Given the description of an element on the screen output the (x, y) to click on. 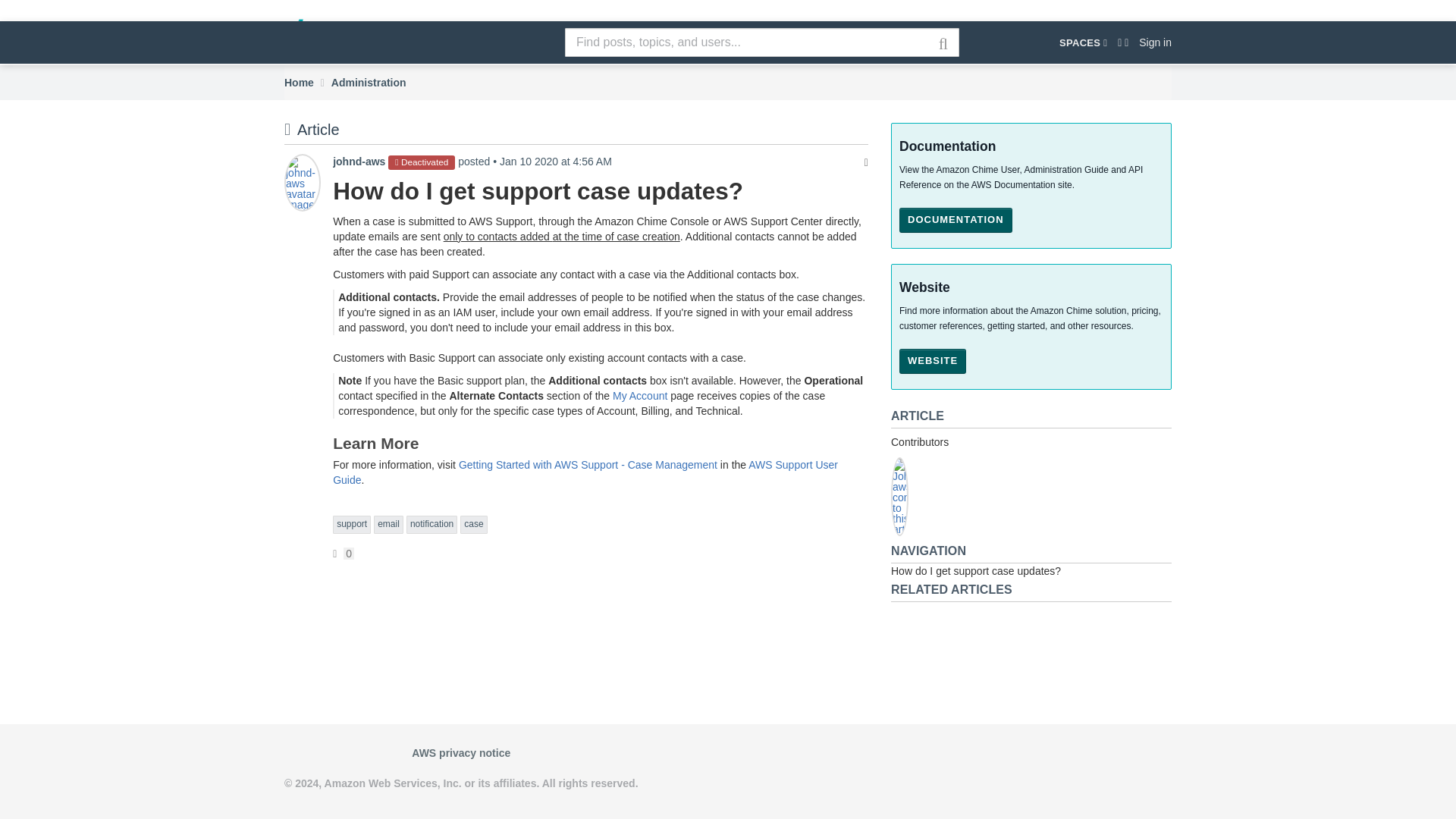
Jan 9, 2020, 8:56:30 PM (555, 161)
SPACES (1082, 42)
